Given the description of an element on the screen output the (x, y) to click on. 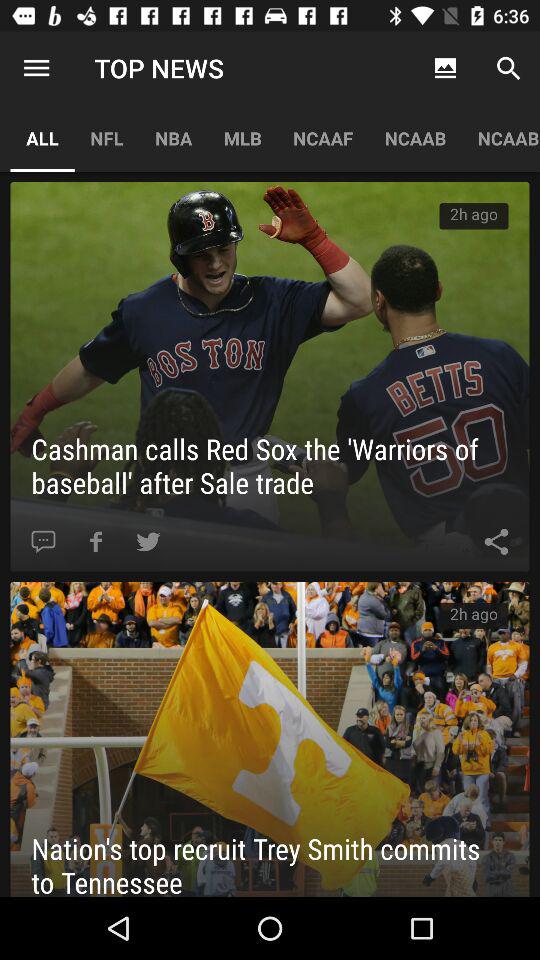
scroll until ncaaf item (323, 138)
